Given the description of an element on the screen output the (x, y) to click on. 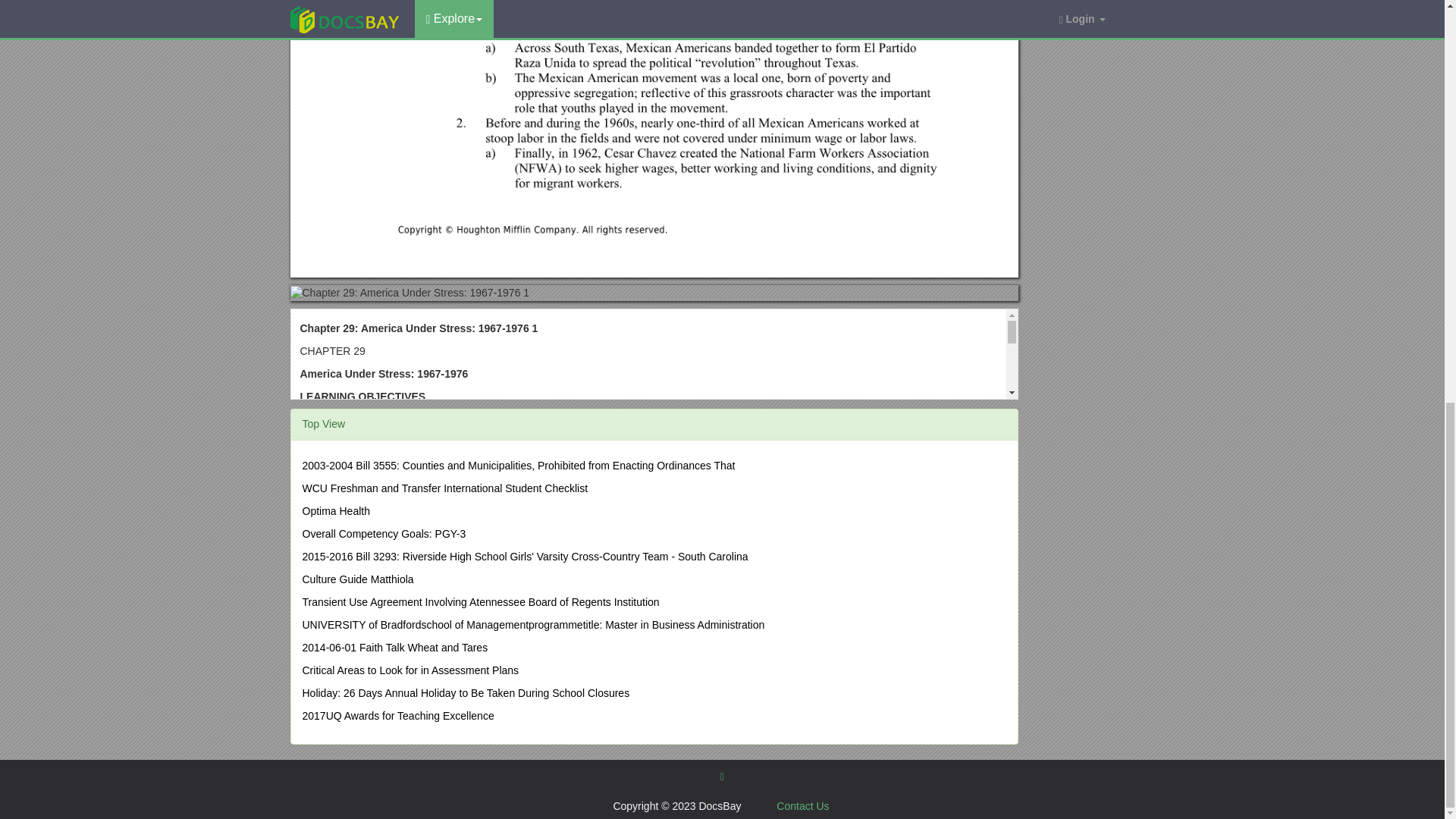
Optima Health (335, 510)
WCU Freshman and Transfer International Student Checklist (444, 488)
2014-06-01 Faith Talk Wheat and Tares (394, 647)
Culture Guide Matthiola (357, 579)
2017UQ Awards for Teaching Excellence (397, 715)
